Given the description of an element on the screen output the (x, y) to click on. 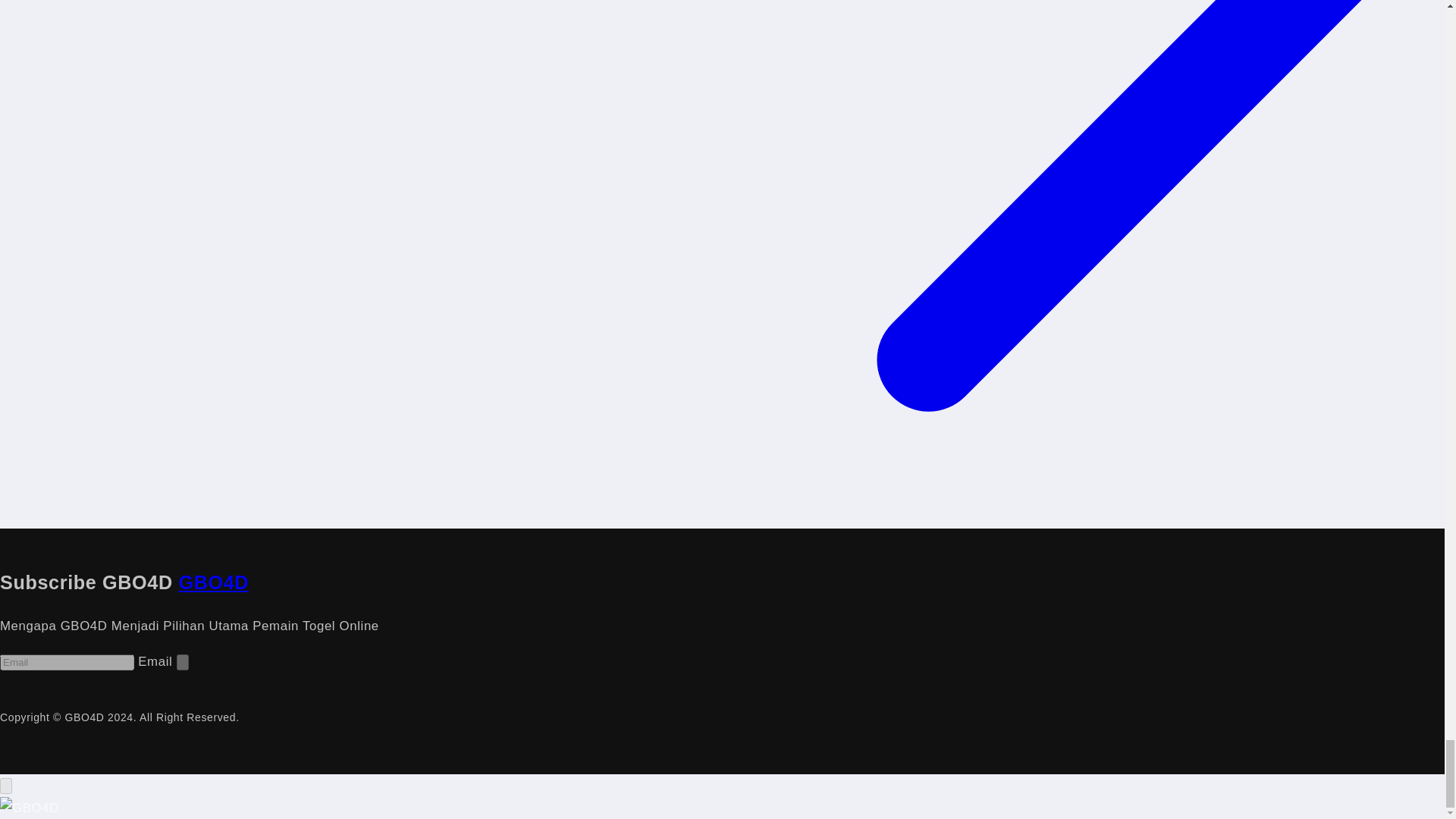
GBO4D (212, 581)
